Given the description of an element on the screen output the (x, y) to click on. 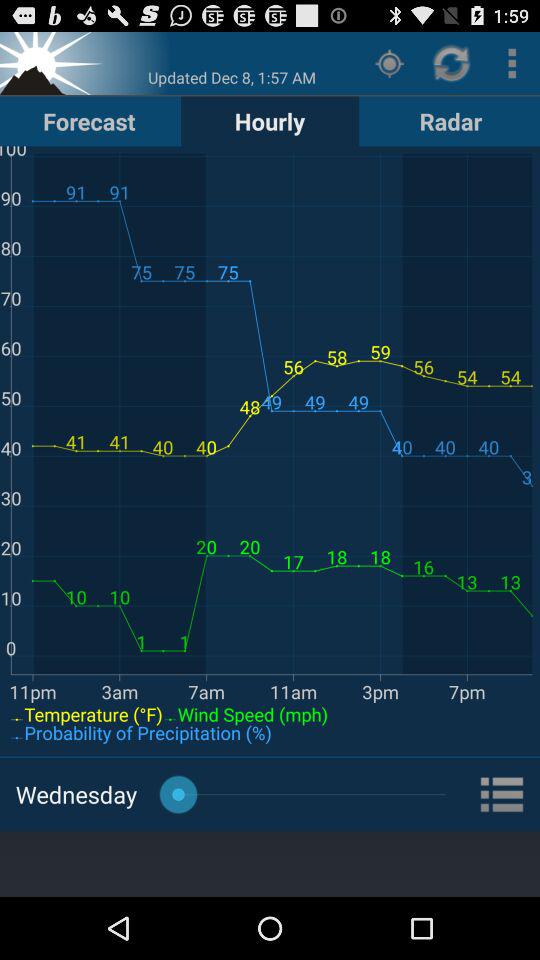
launch the button next to the hourly item (89, 120)
